Given the description of an element on the screen output the (x, y) to click on. 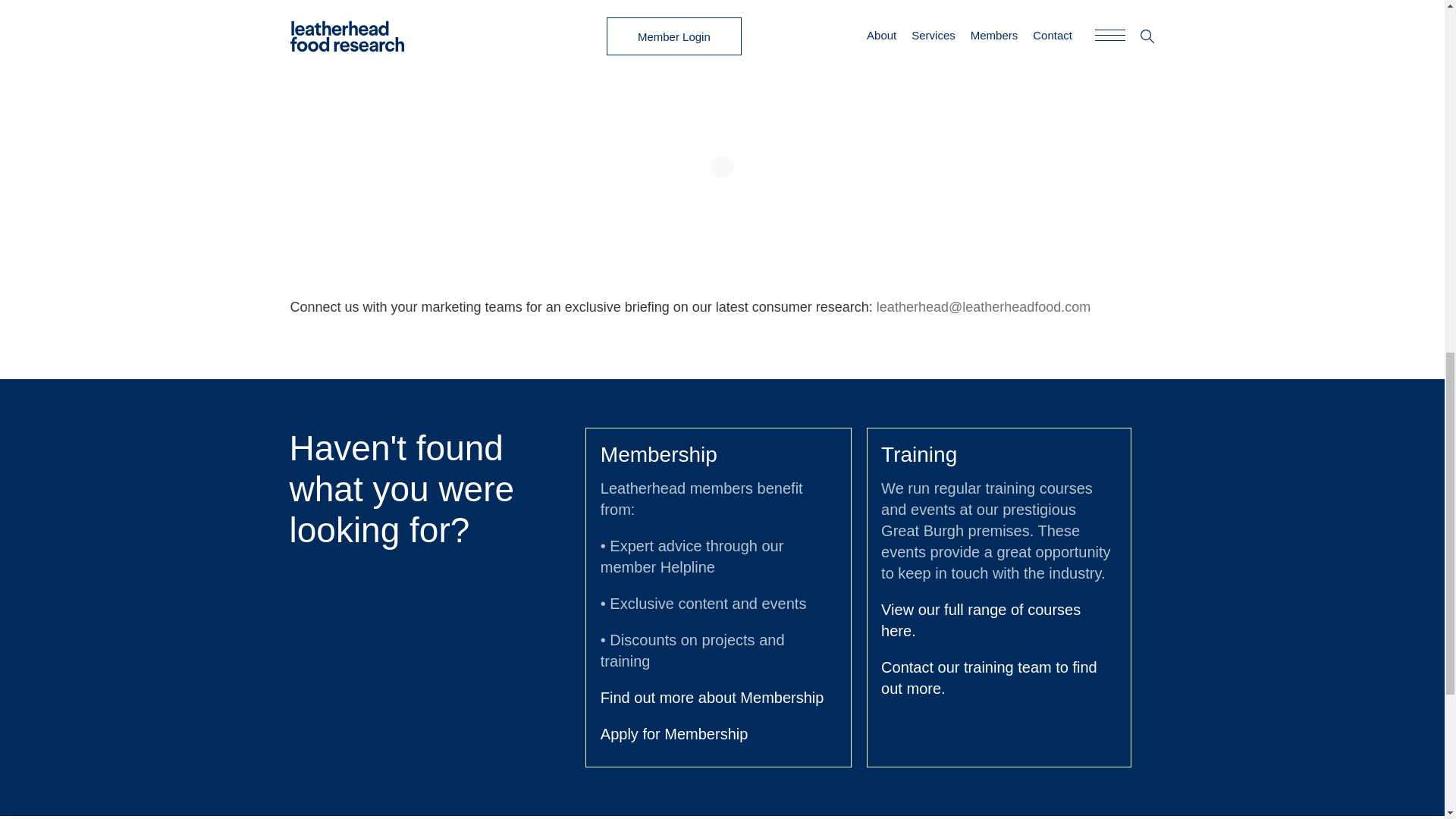
Find out more about Membership (711, 697)
Apply for Membership (673, 733)
Contact our training team to find out more. (988, 677)
View our full range of courses here. (980, 620)
